Given the description of an element on the screen output the (x, y) to click on. 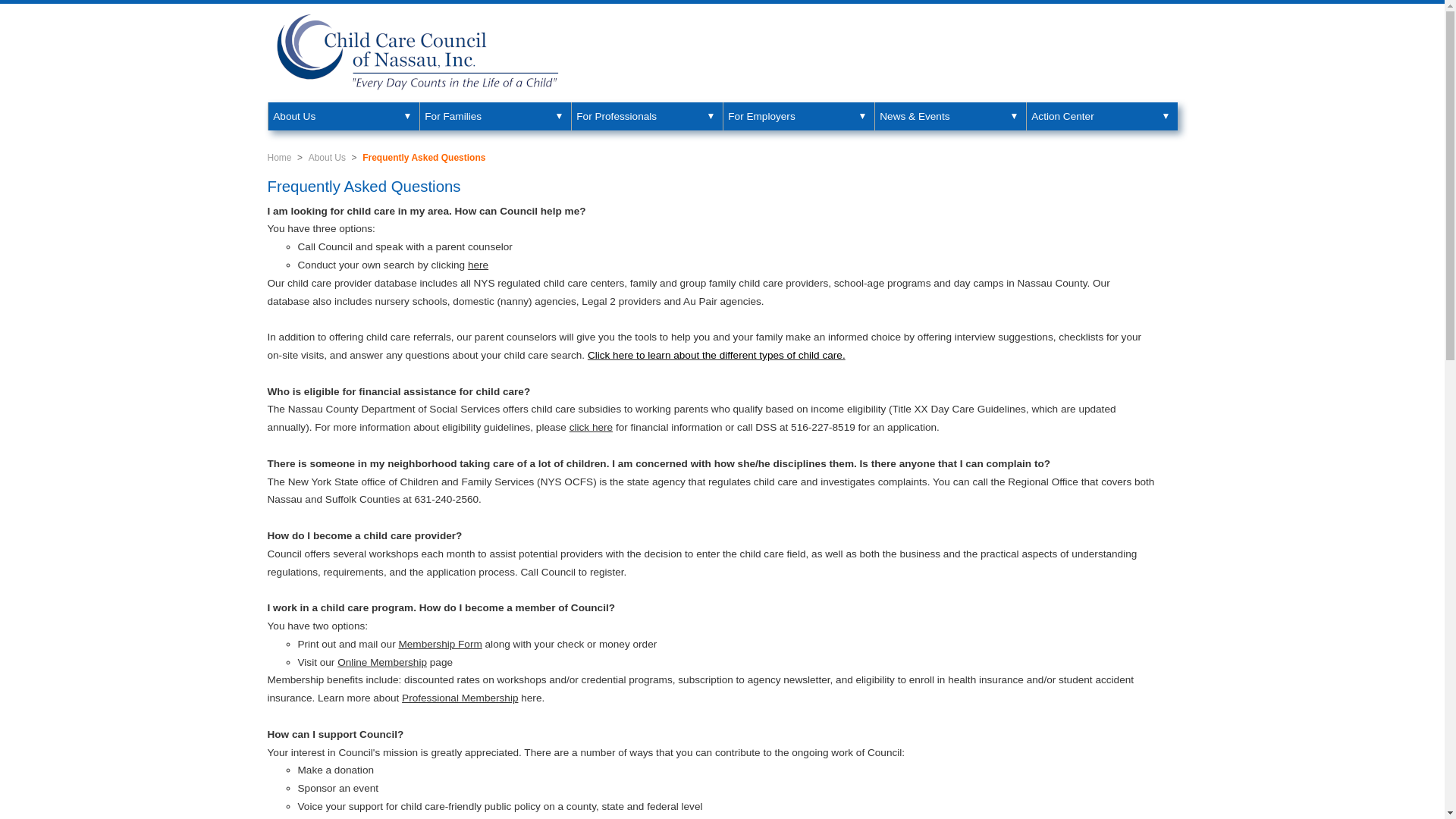
Child Care Council of Nassau (418, 53)
About Us (342, 116)
For Families (494, 116)
For Professionals (646, 116)
